Given the description of an element on the screen output the (x, y) to click on. 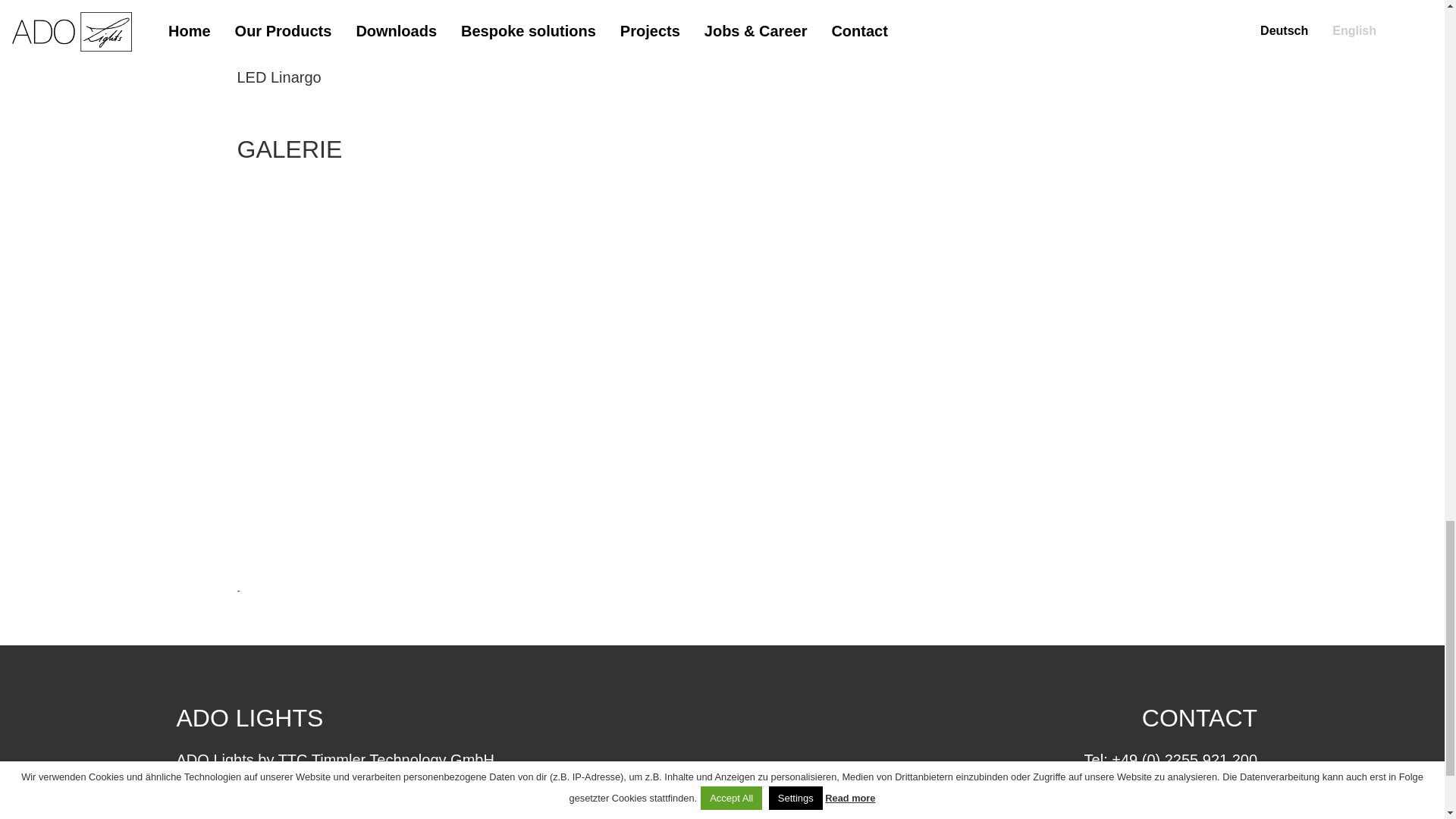
LED Linargo (277, 76)
LED Luc 60-1 (282, 41)
LED WallWasher (292, 7)
